Given the description of an element on the screen output the (x, y) to click on. 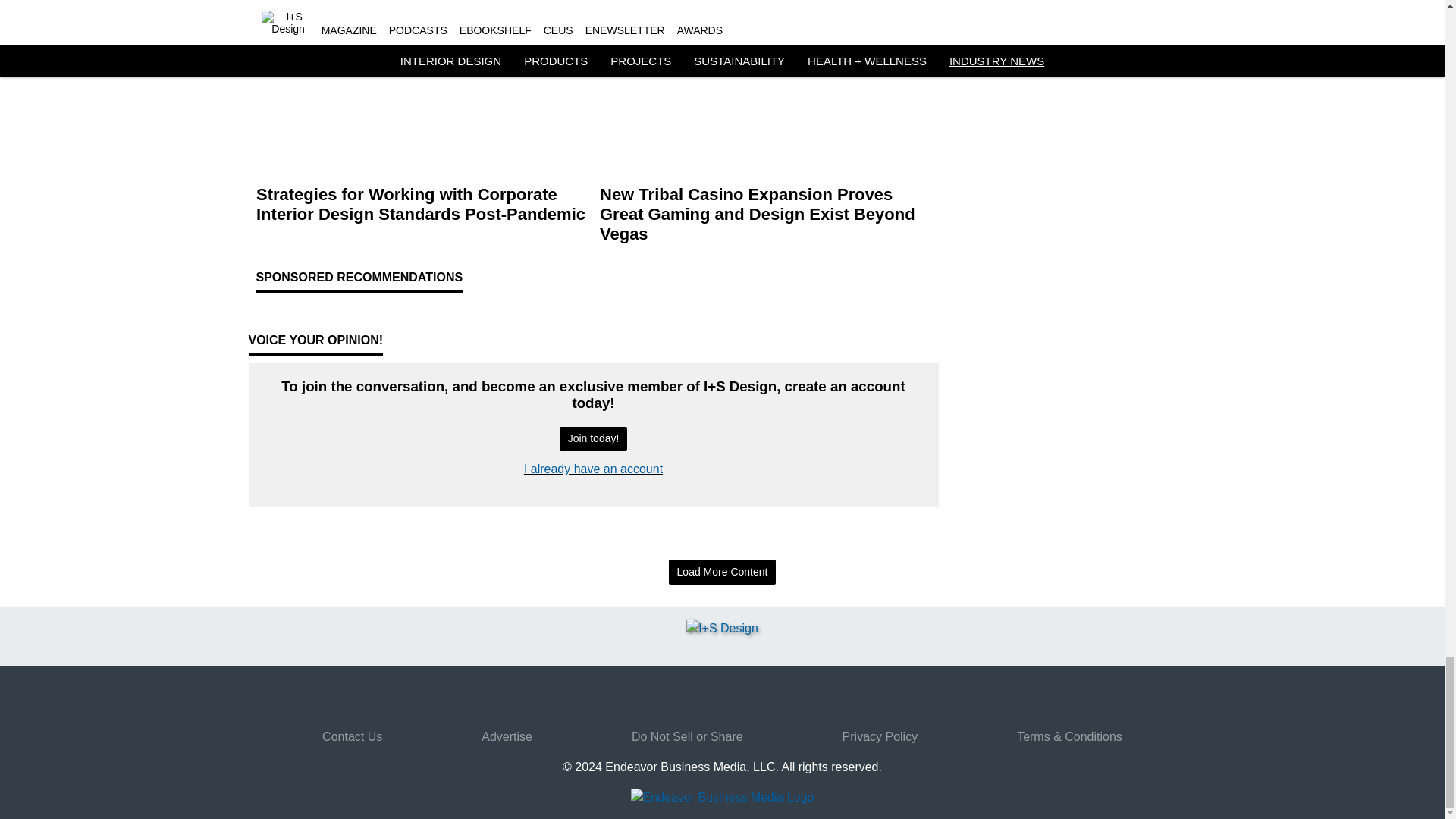
I already have an account (593, 468)
Join today! (593, 439)
